Given the description of an element on the screen output the (x, y) to click on. 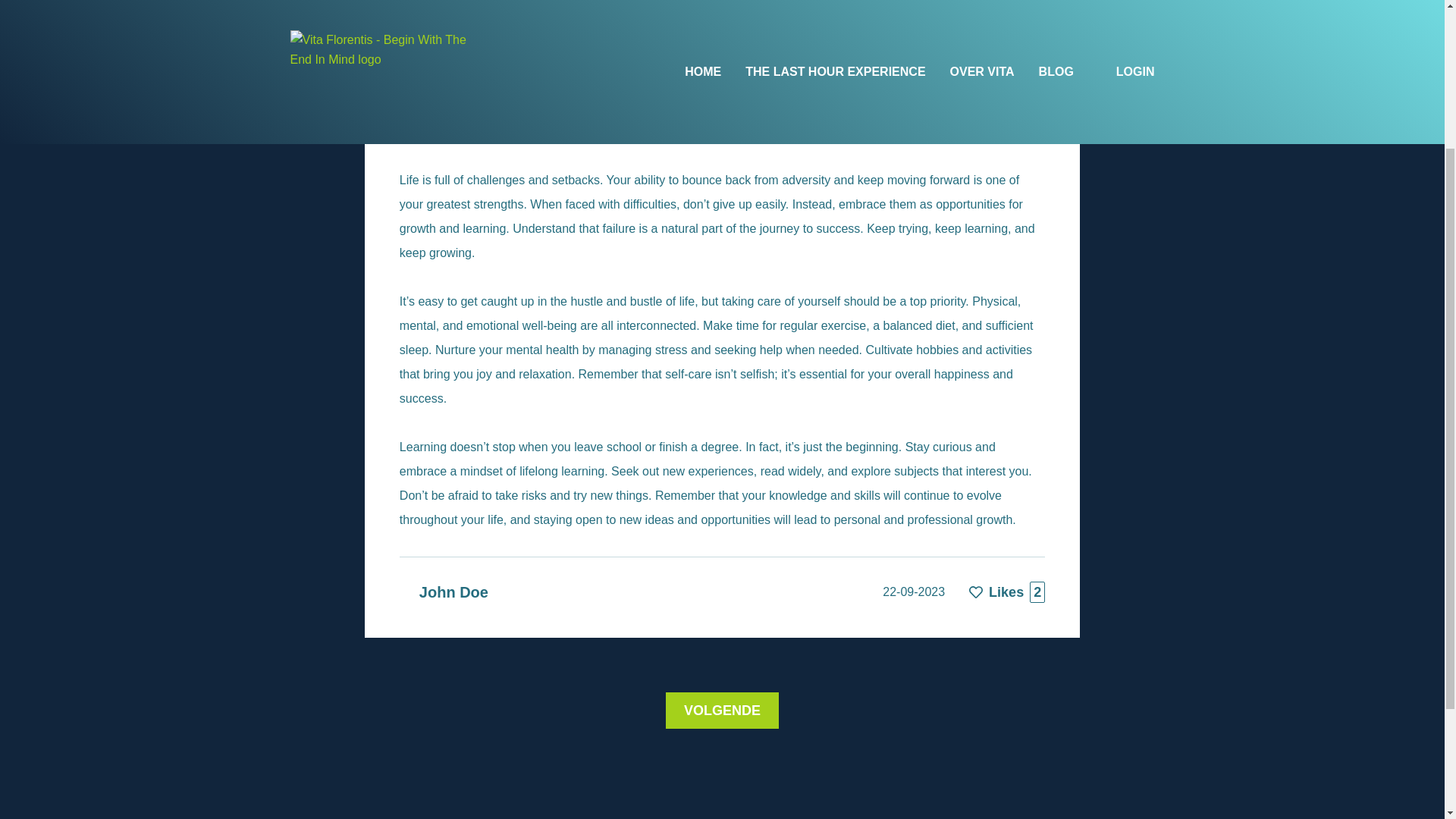
VOLGENDE (721, 710)
